Given the description of an element on the screen output the (x, y) to click on. 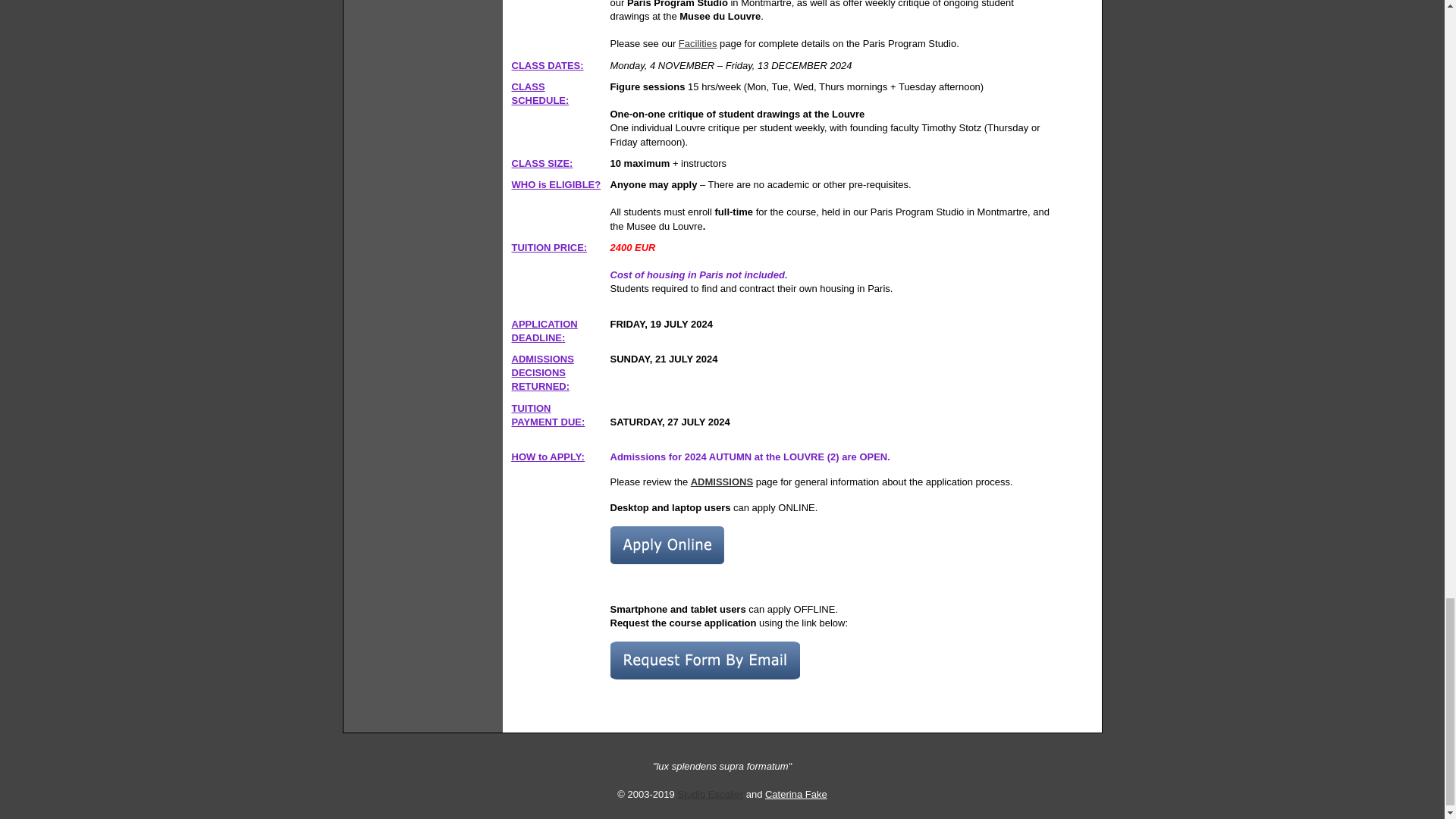
ADMISSIONS (721, 481)
Facilities (697, 43)
Facilities (697, 43)
